Given the description of an element on the screen output the (x, y) to click on. 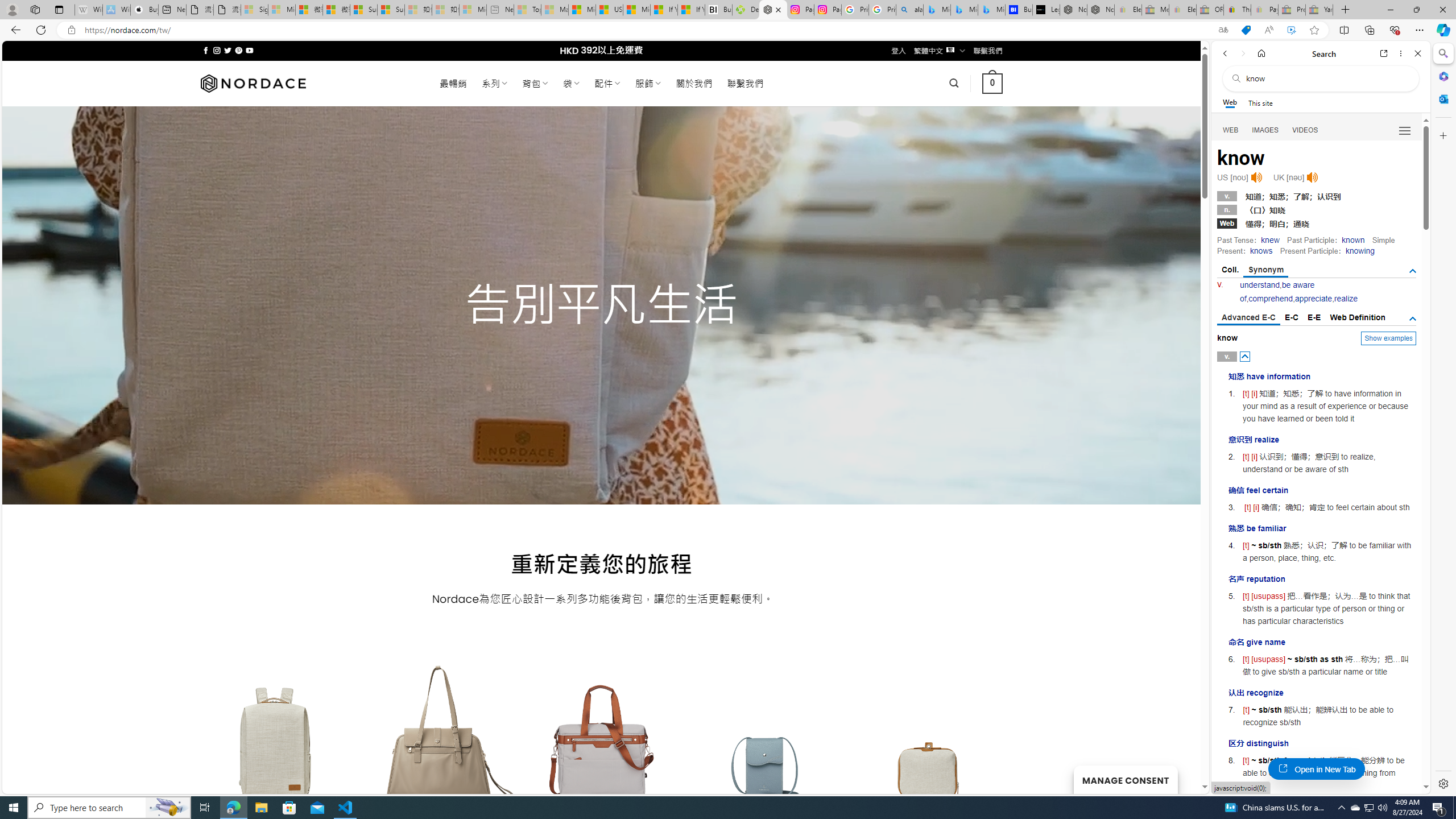
knowing (1359, 250)
WEB (1231, 130)
understand (1259, 284)
AutomationID: tgdef (1412, 318)
